Given the description of an element on the screen output the (x, y) to click on. 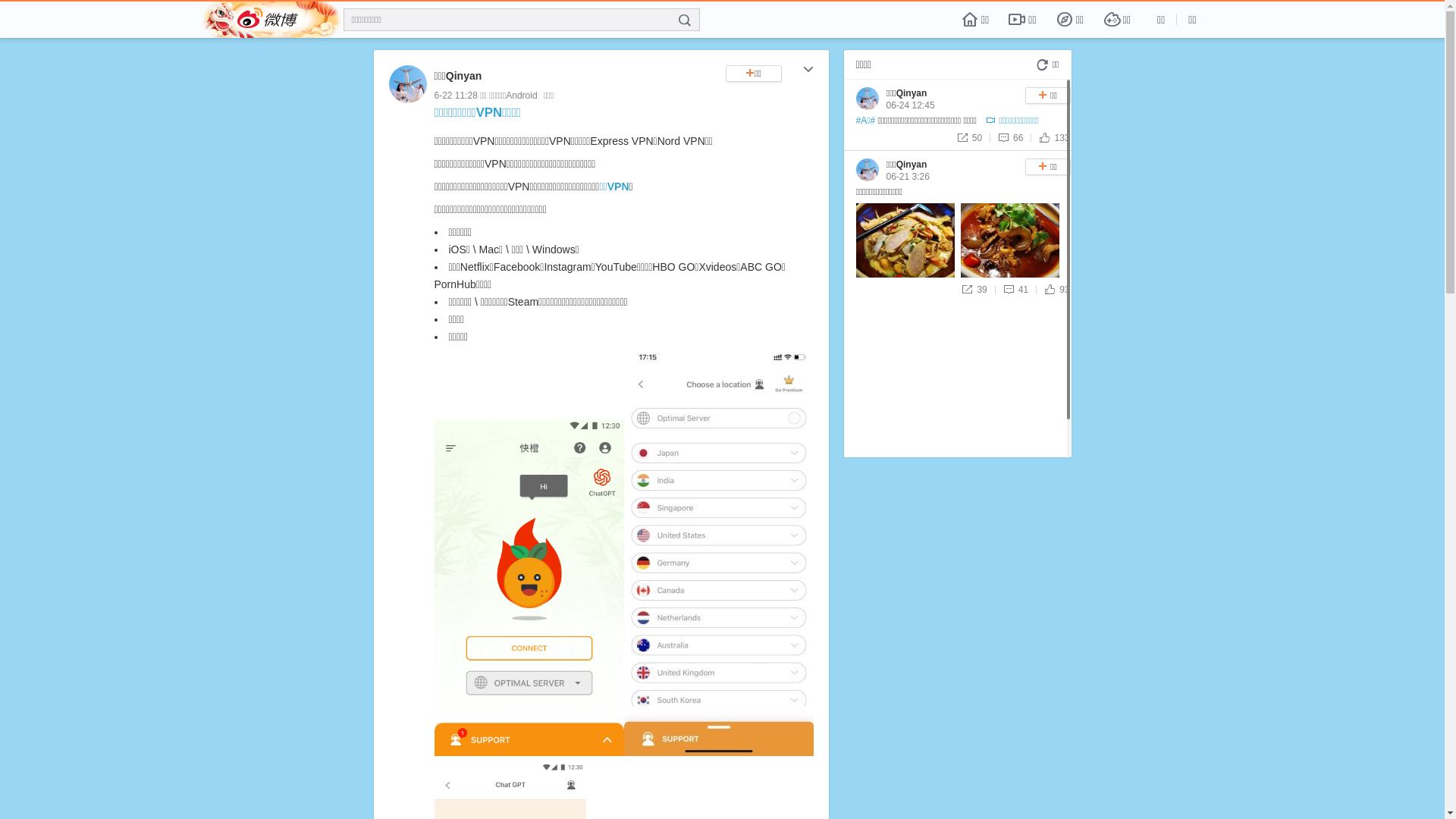
f Element type: text (684, 20)
6-22 11:28 Element type: text (454, 95)
06-21 3:26 Element type: text (906, 176)
c Element type: text (808, 70)
06-24 12:45 Element type: text (909, 105)
